Given the description of an element on the screen output the (x, y) to click on. 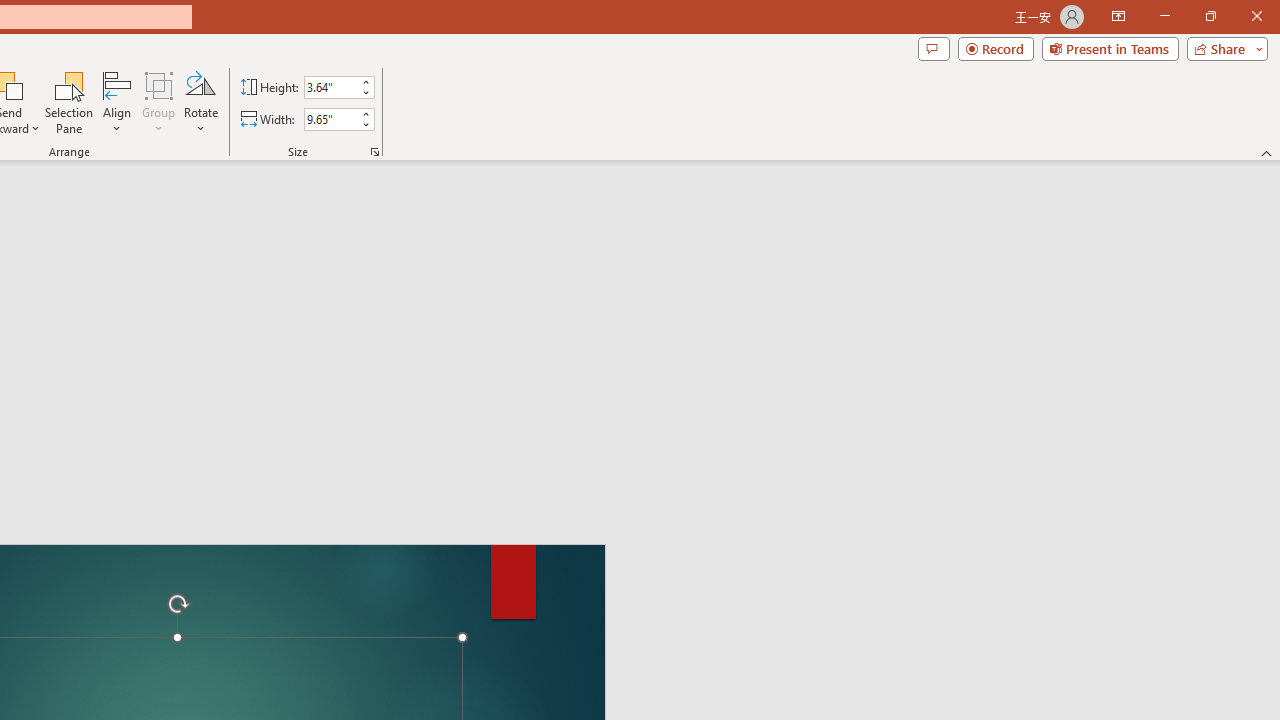
Size and Position... (374, 151)
Group (159, 102)
More (365, 113)
Selection Pane... (69, 102)
Align (117, 102)
Less (365, 124)
